Given the description of an element on the screen output the (x, y) to click on. 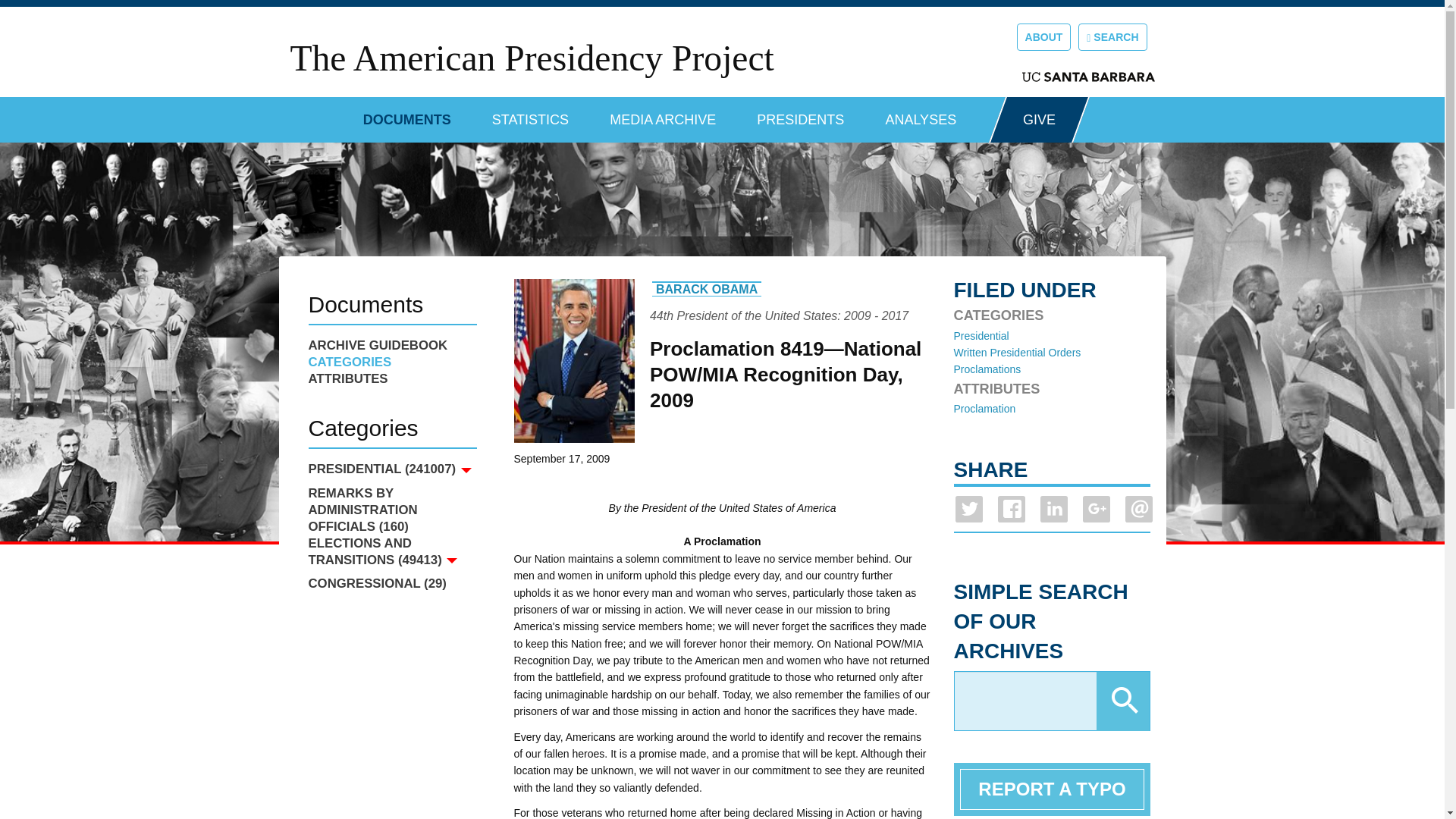
ATTRIBUTES (391, 379)
 SEARCH (1112, 36)
ABOUT (1043, 36)
The American Presidency Project (531, 57)
STATISTICS (530, 113)
CATEGORIES (391, 362)
PRESIDENTS (800, 113)
ANALYSES (920, 113)
ARCHIVE GUIDEBOOK (391, 345)
MEDIA ARCHIVE (663, 113)
DOCUMENTS (406, 113)
GIVE (1038, 119)
